Given the description of an element on the screen output the (x, y) to click on. 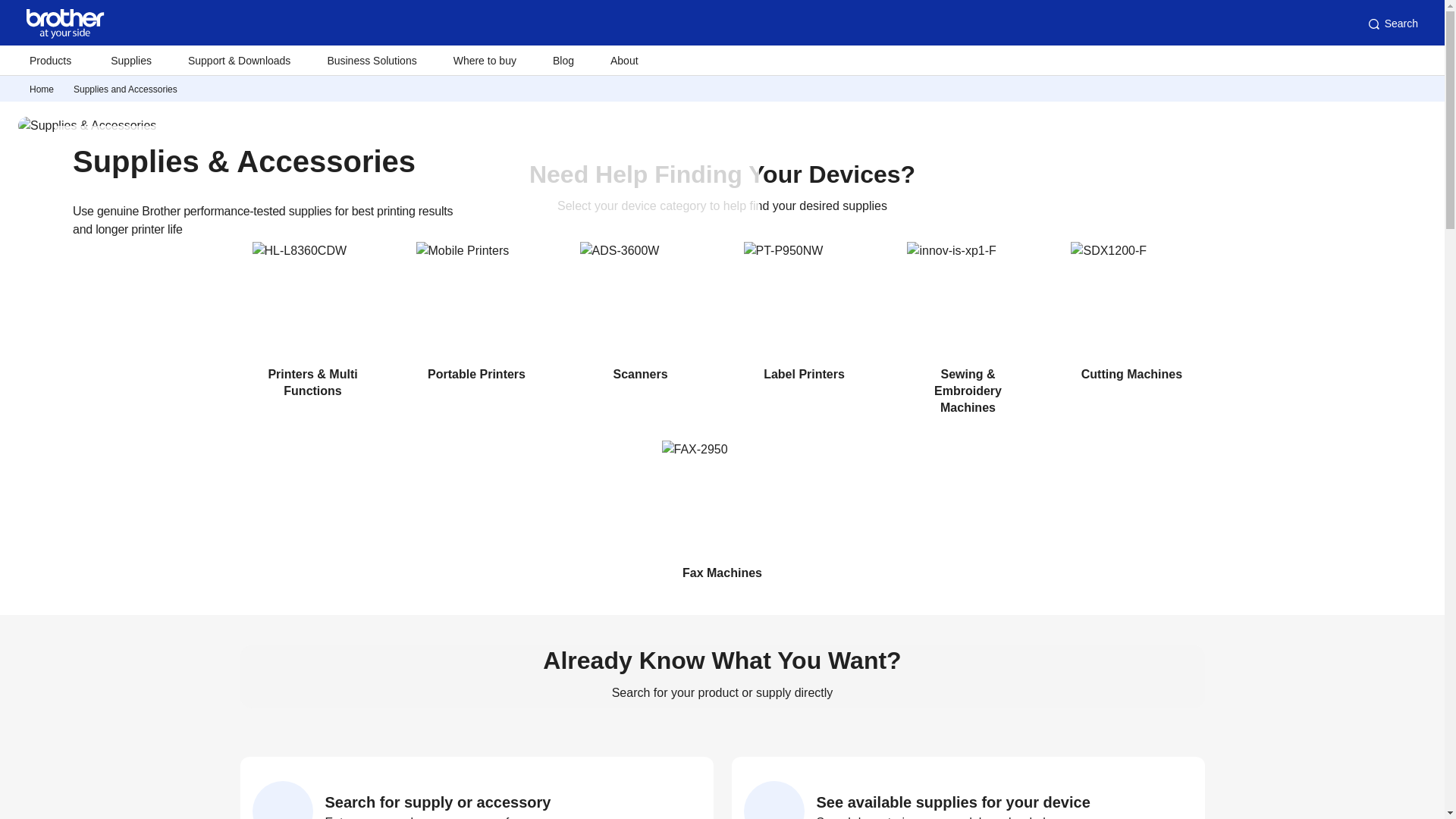
Home (41, 89)
Search (1392, 23)
Blog (563, 60)
Where to buy (484, 60)
Supplies (130, 60)
Business Solutions (371, 60)
supplies (125, 89)
